Given the description of an element on the screen output the (x, y) to click on. 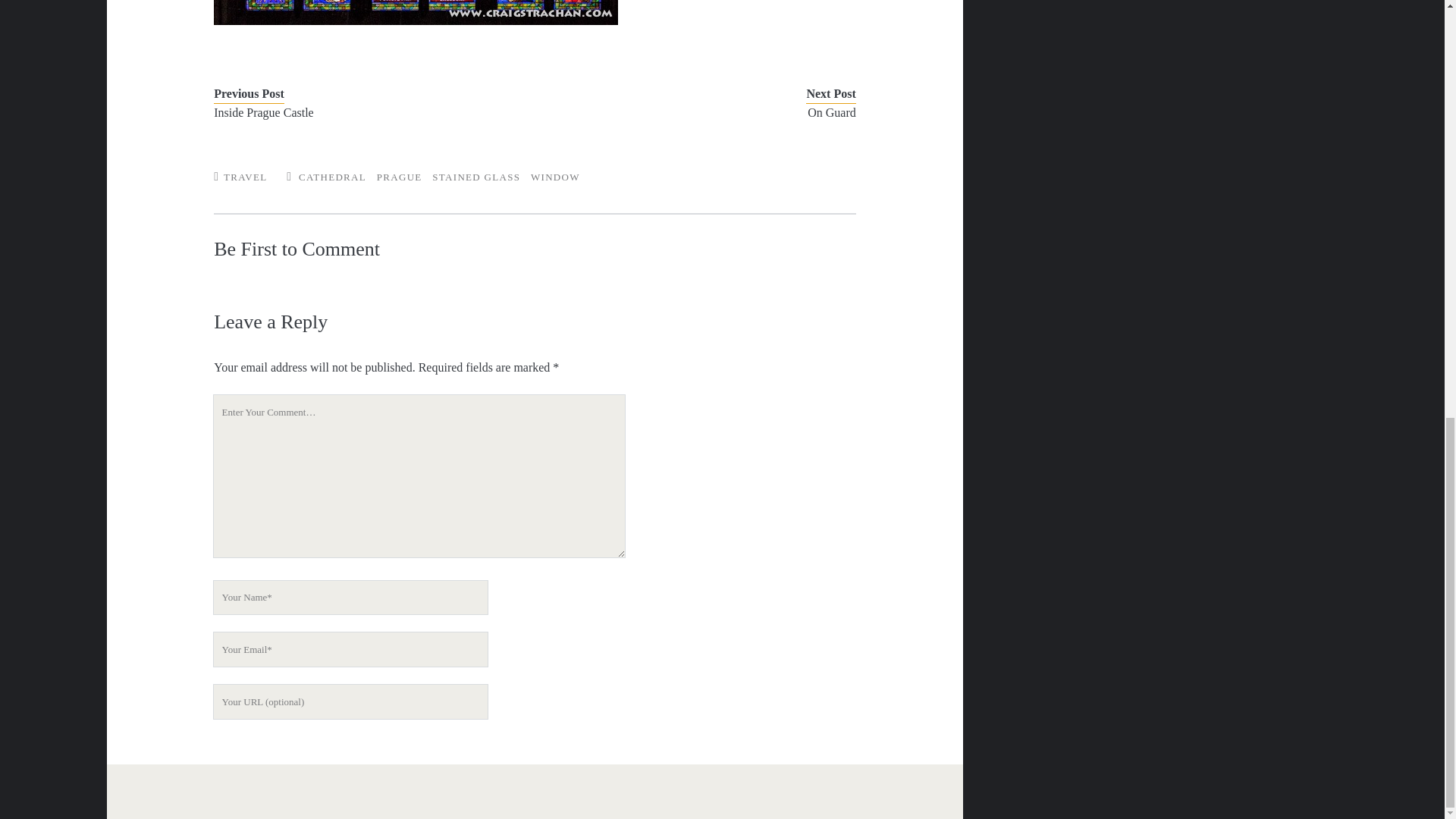
View all posts tagged window (555, 176)
View all posts tagged prague (399, 176)
CATHEDRAL (332, 176)
On Guard (708, 113)
View all posts tagged cathedral (332, 176)
STAINED GLASS (475, 176)
Inside Prague Castle (361, 113)
View all posts in Travel (245, 176)
PRAGUE (399, 176)
View all posts tagged stained glass (475, 176)
